Given the description of an element on the screen output the (x, y) to click on. 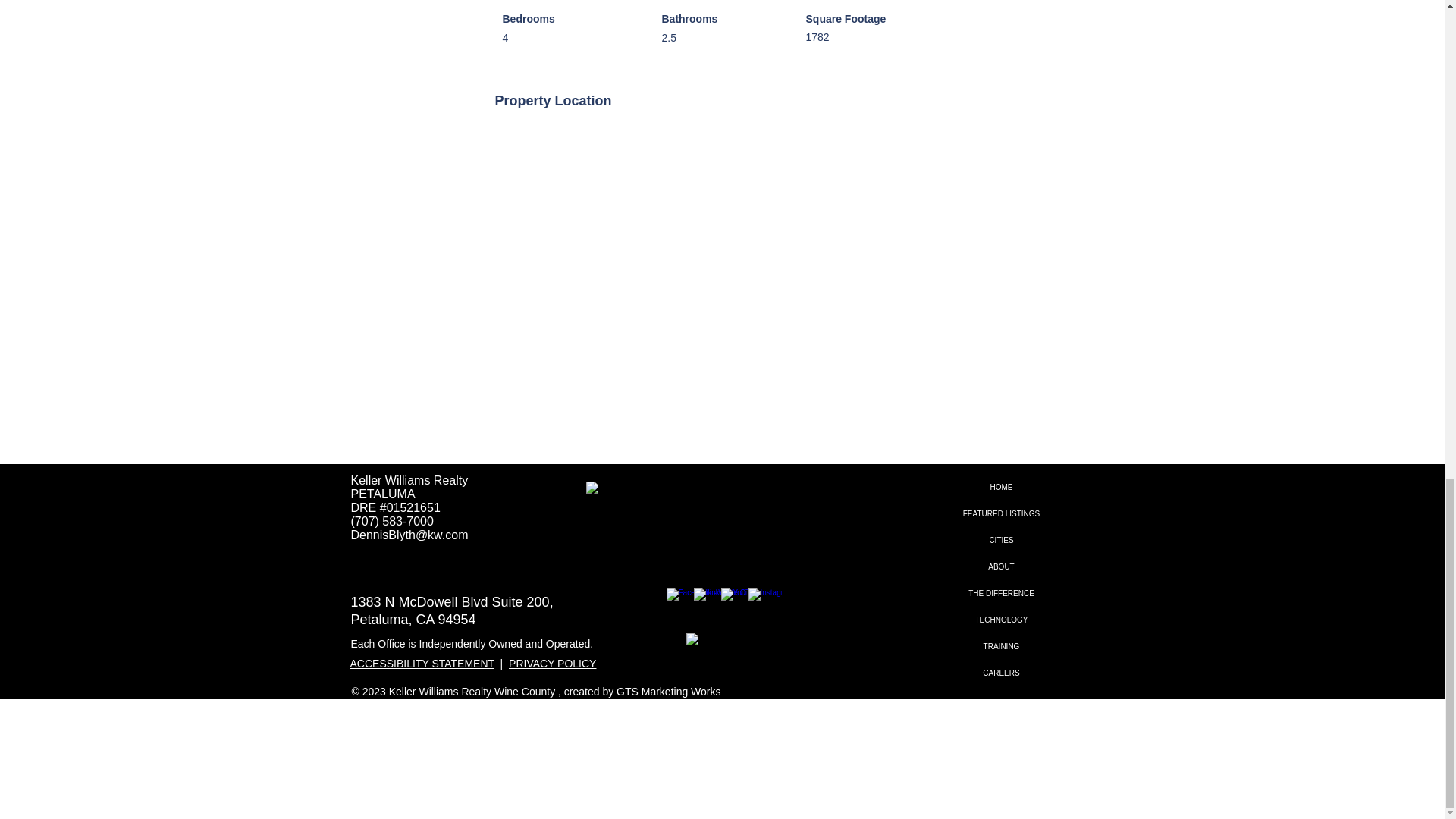
PRIVACY POLICY (551, 663)
ACCESSIBILITY STATEMENT (422, 663)
01521651 (414, 507)
